Given the description of an element on the screen output the (x, y) to click on. 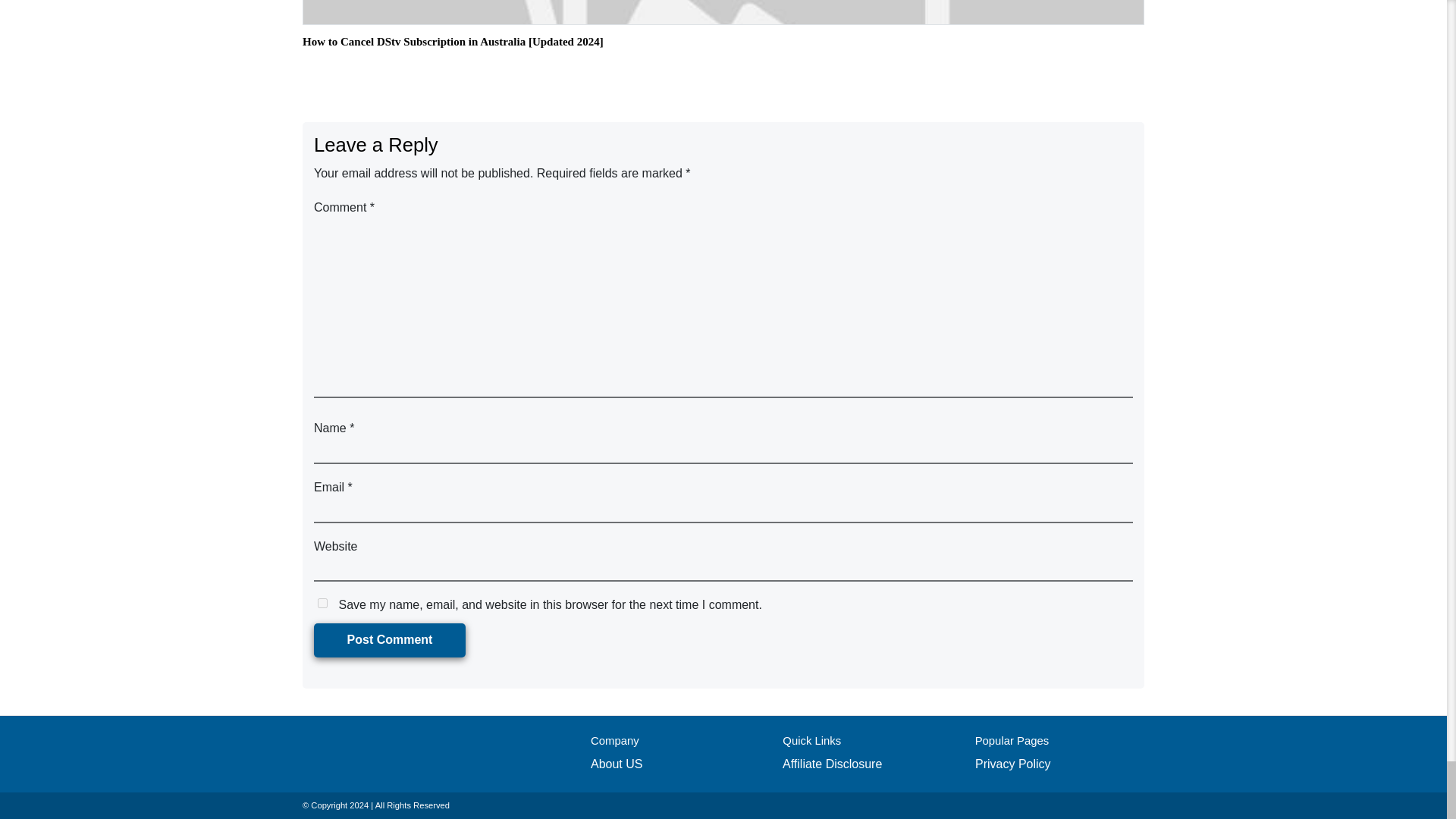
Post Comment (389, 640)
yes (322, 603)
